Given the description of an element on the screen output the (x, y) to click on. 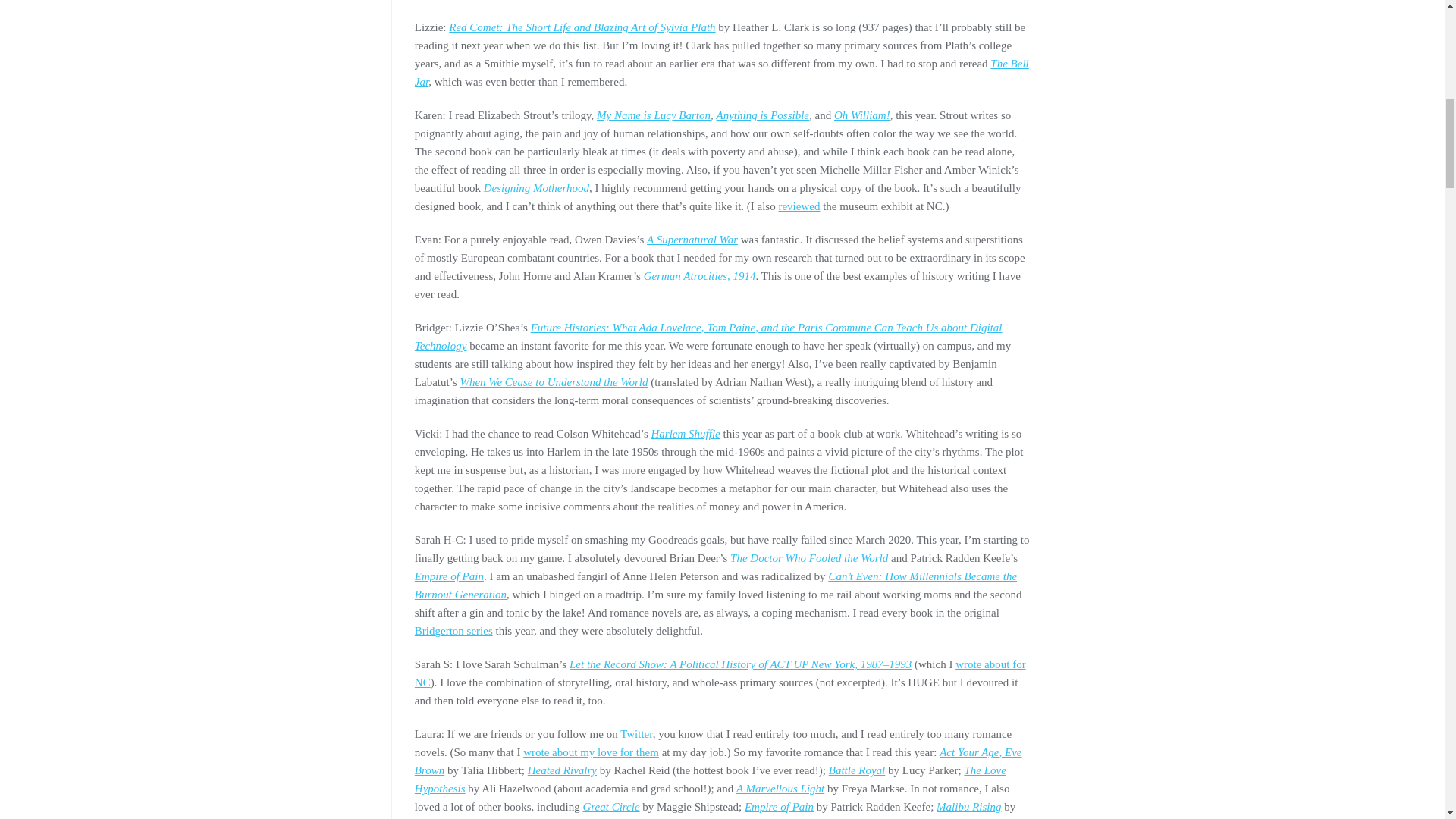
Red Comet: The Short Life and Blazing Art of Sylvia Plath (581, 27)
Designing Motherhood (536, 187)
German Atrocities, 1914 (699, 275)
My Name is Lucy Barton (653, 114)
Oh William! (861, 114)
The Bell Jar (721, 72)
Anything is Possible (762, 114)
A Supernatural War (692, 239)
reviewed (798, 205)
